Given the description of an element on the screen output the (x, y) to click on. 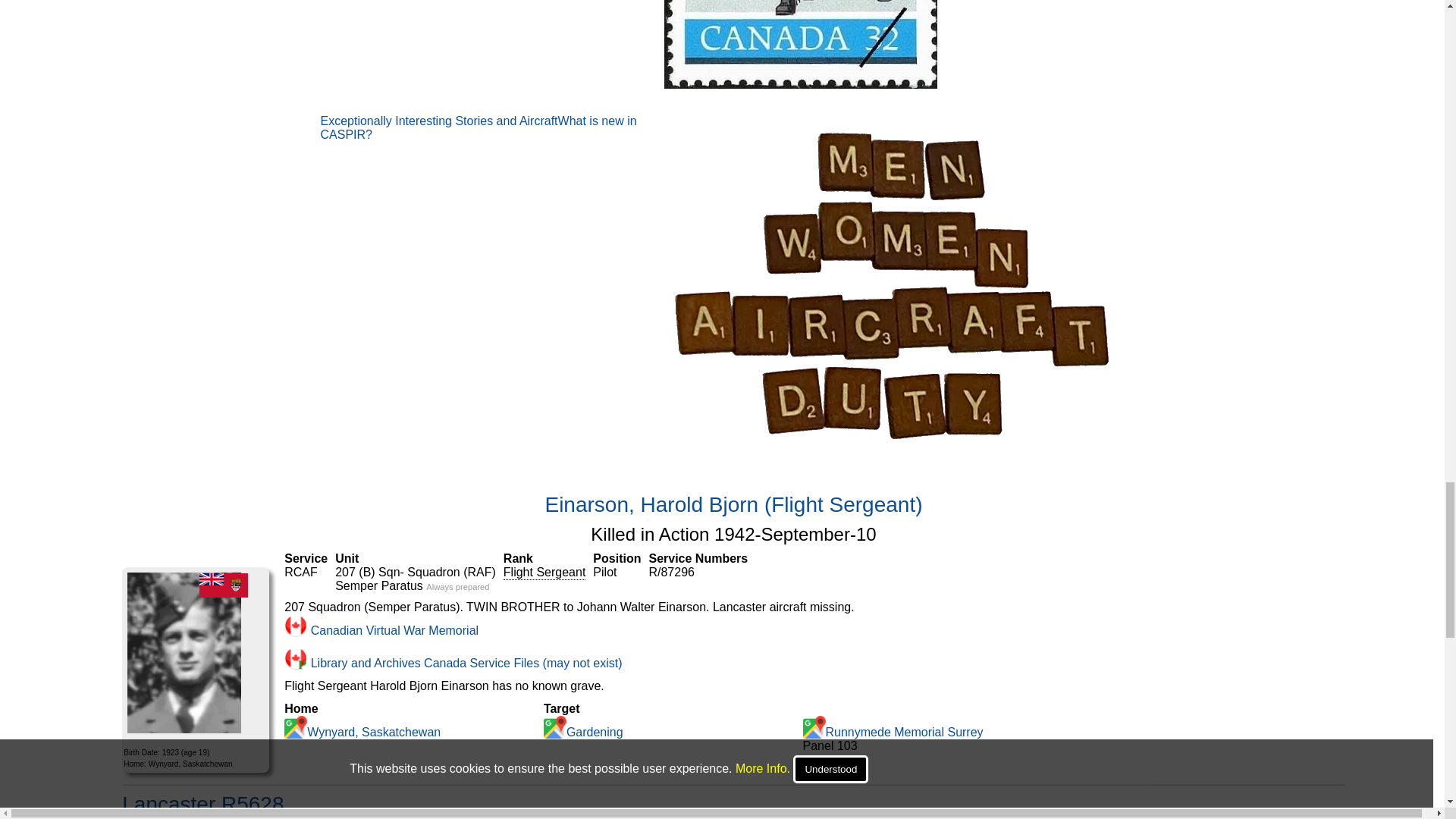
Canada (223, 585)
Click for Google Map (295, 726)
Click for Google Map (554, 726)
Click for Google Map (814, 726)
